Given the description of an element on the screen output the (x, y) to click on. 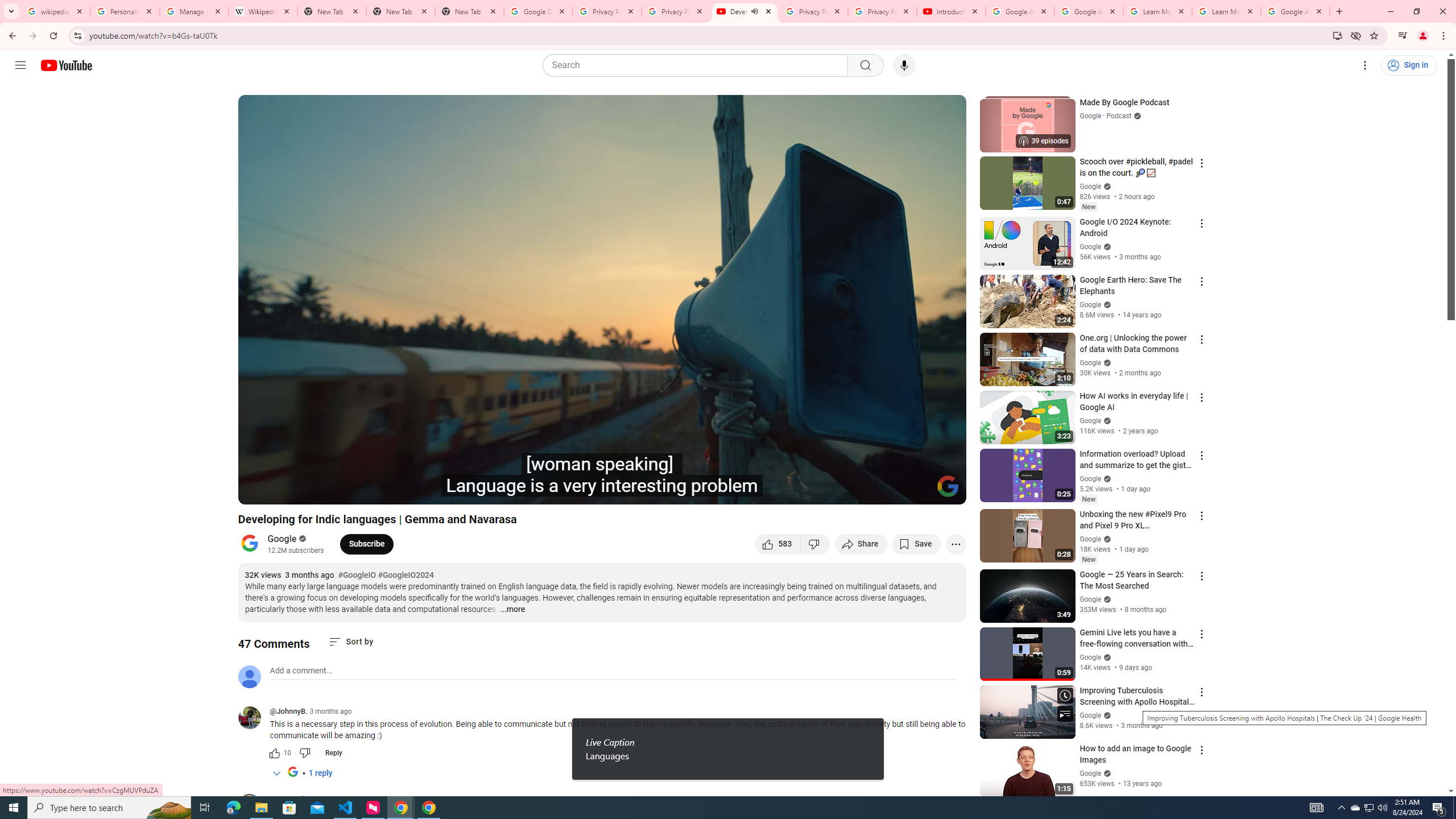
3 months ago (345, 798)
Mute (m) (312, 490)
Next (SHIFT+n) (284, 490)
Guide (20, 65)
Full screen (f) (945, 490)
Channel watermark (947, 486)
@gamarsh1960 (295, 799)
YouTube Home (66, 65)
New Tab (469, 11)
